Given the description of an element on the screen output the (x, y) to click on. 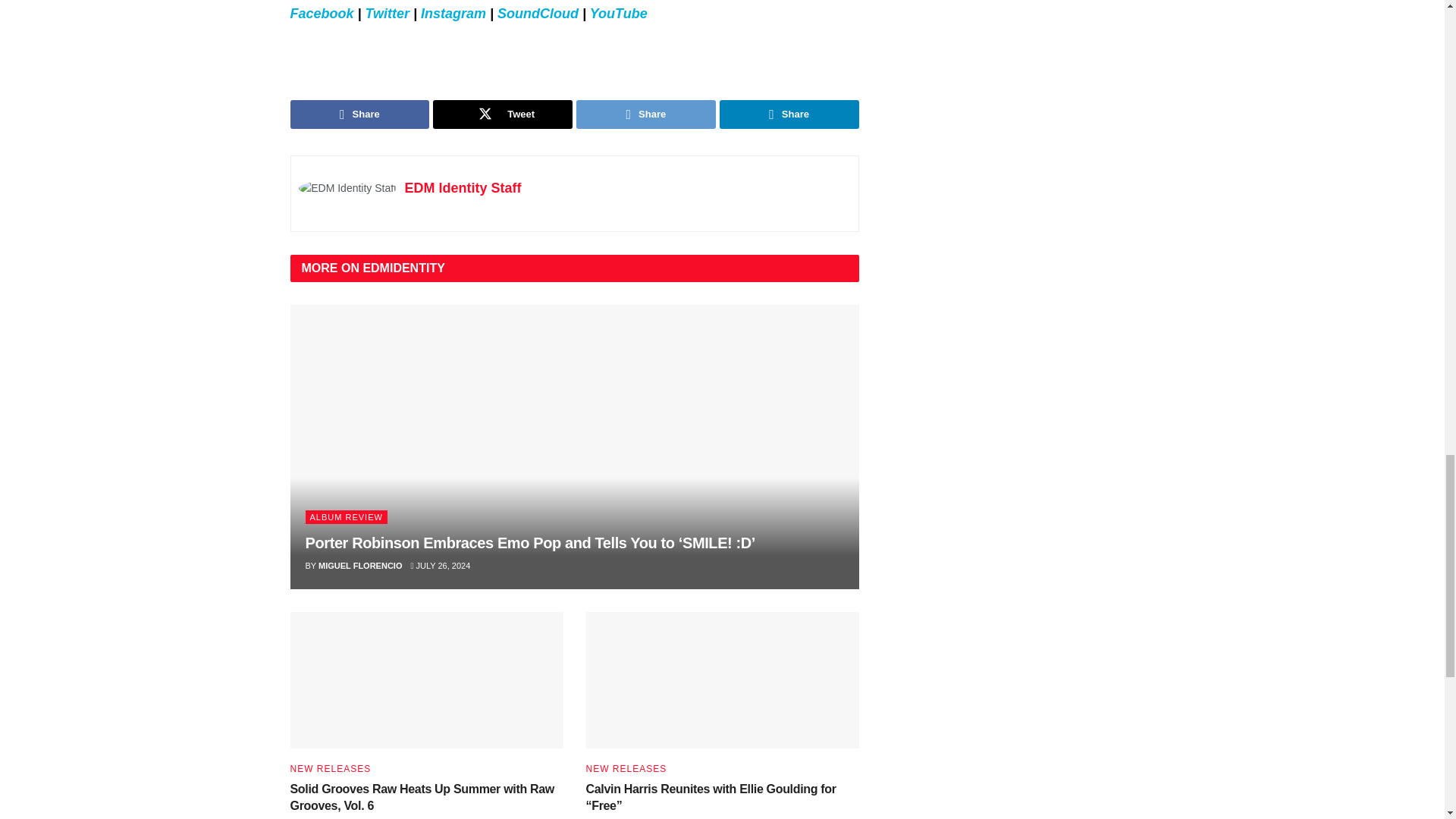
SoundCloud  (539, 13)
YouTube (618, 13)
Share (359, 113)
Facebook (321, 13)
Twitter (387, 13)
Instagram  (454, 13)
